Given the description of an element on the screen output the (x, y) to click on. 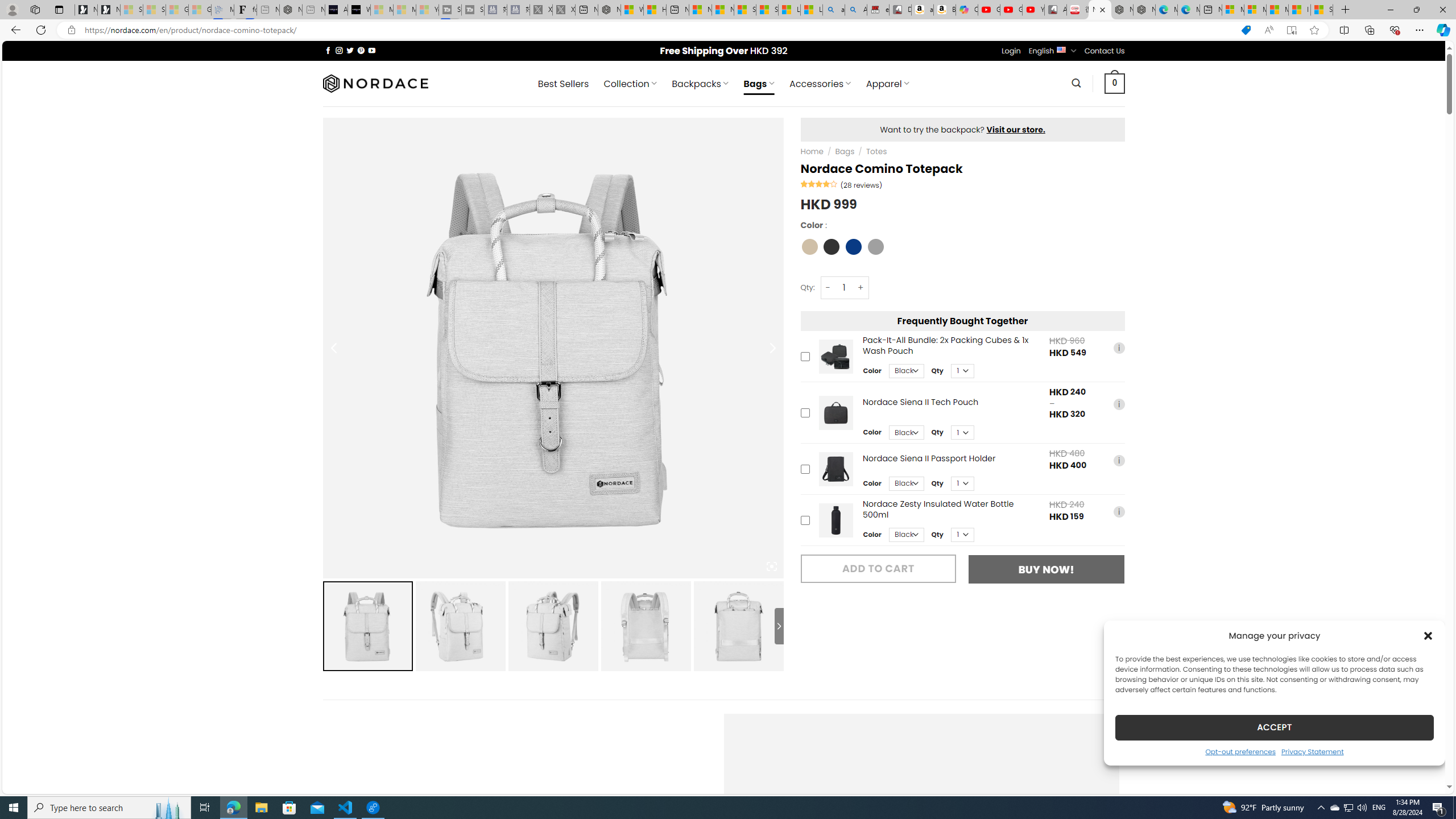
Enter Immersive Reader (F9) (1291, 29)
English (1061, 49)
Nordace Zesty Insulated Water Bottle 500ml (835, 519)
Login (1010, 50)
- (827, 287)
  Best Sellers (563, 83)
